Given the description of an element on the screen output the (x, y) to click on. 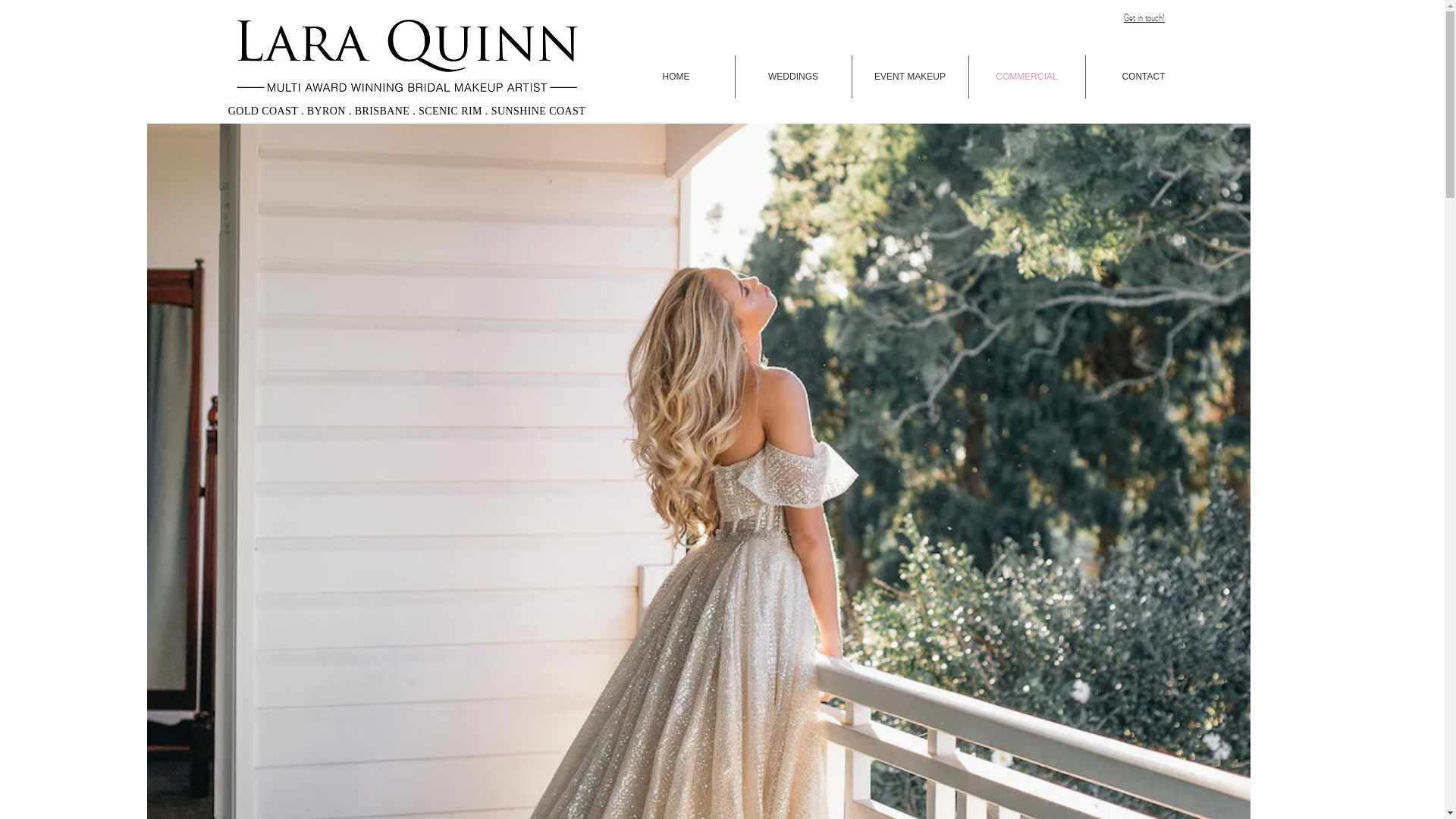
EVENT MAKEUP Element type: text (910, 76)
HOME Element type: text (675, 76)
COMMERCIAL Element type: text (1027, 76)
CONTACT Element type: text (1143, 76)
WEDDINGS Element type: text (793, 76)
Get in touch! Element type: text (1143, 17)
